Given the description of an element on the screen output the (x, y) to click on. 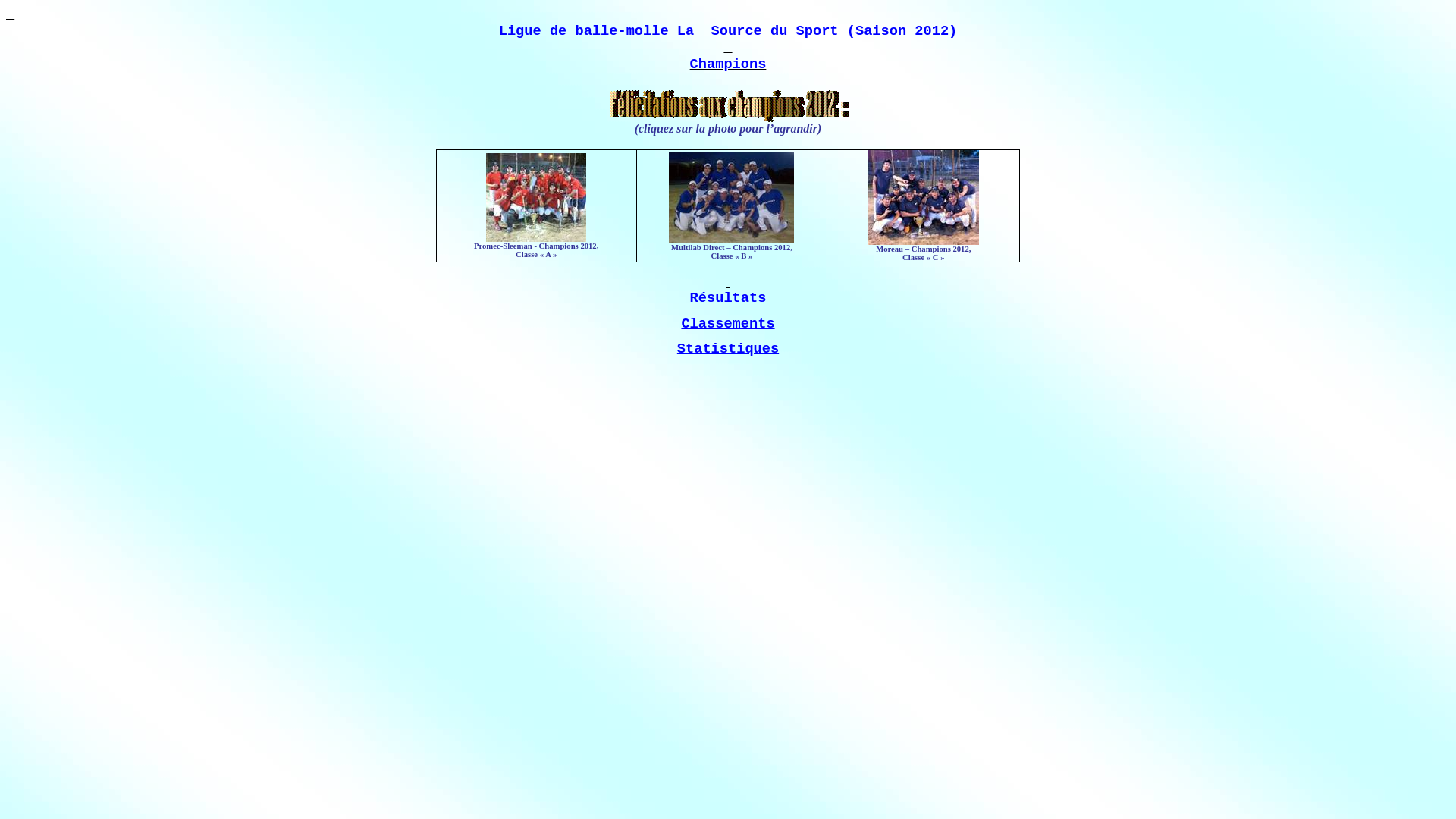
Statistiques Element type: text (727, 348)
Classements Element type: text (727, 323)
